Given the description of an element on the screen output the (x, y) to click on. 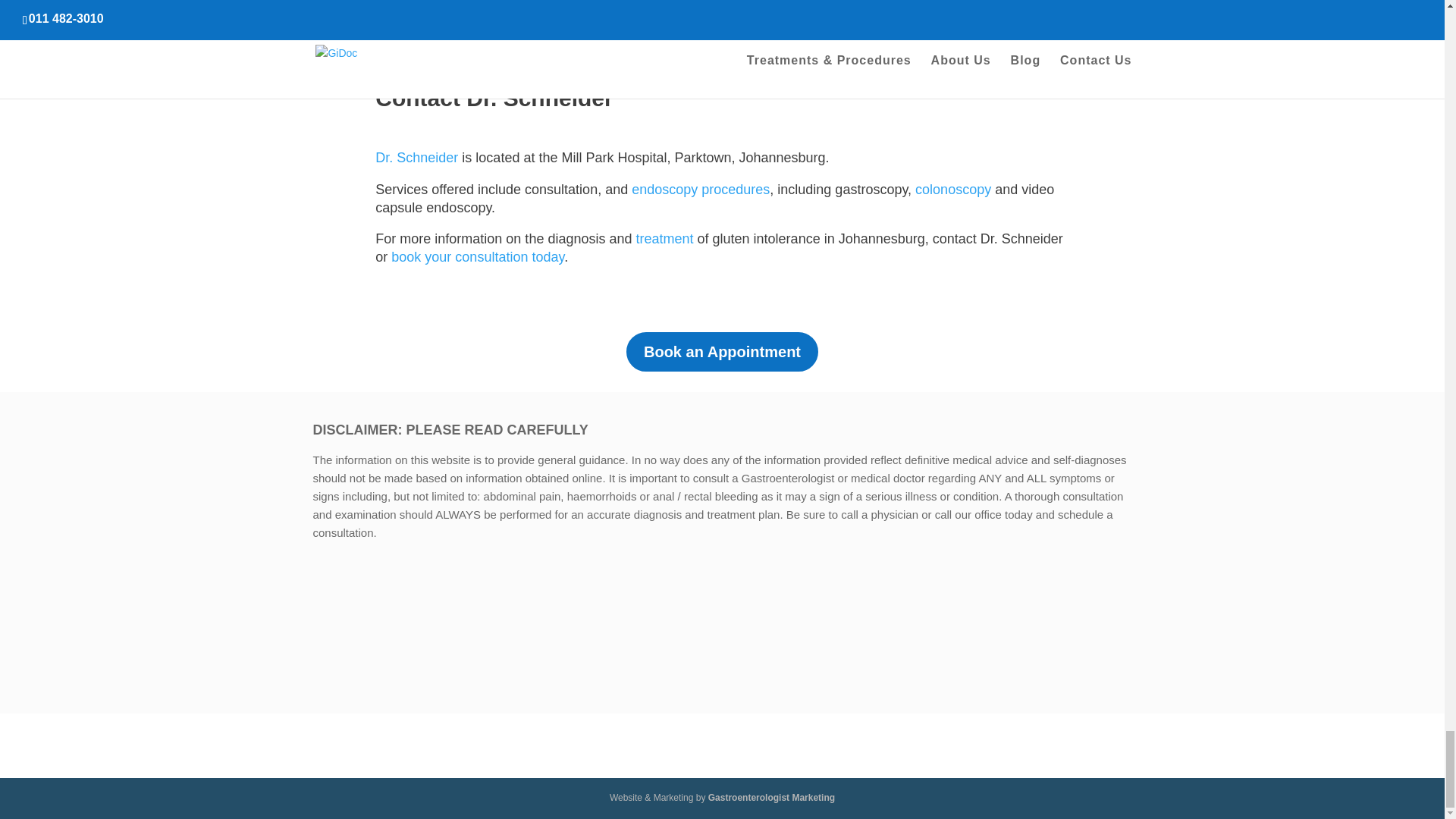
Dr. Schneider (416, 157)
book your consultation today (477, 256)
Gastroenterologist Marketing (770, 797)
treatment (663, 238)
colonoscopy (953, 189)
Book an Appointment (722, 351)
endoscopy procedures (700, 189)
